Given the description of an element on the screen output the (x, y) to click on. 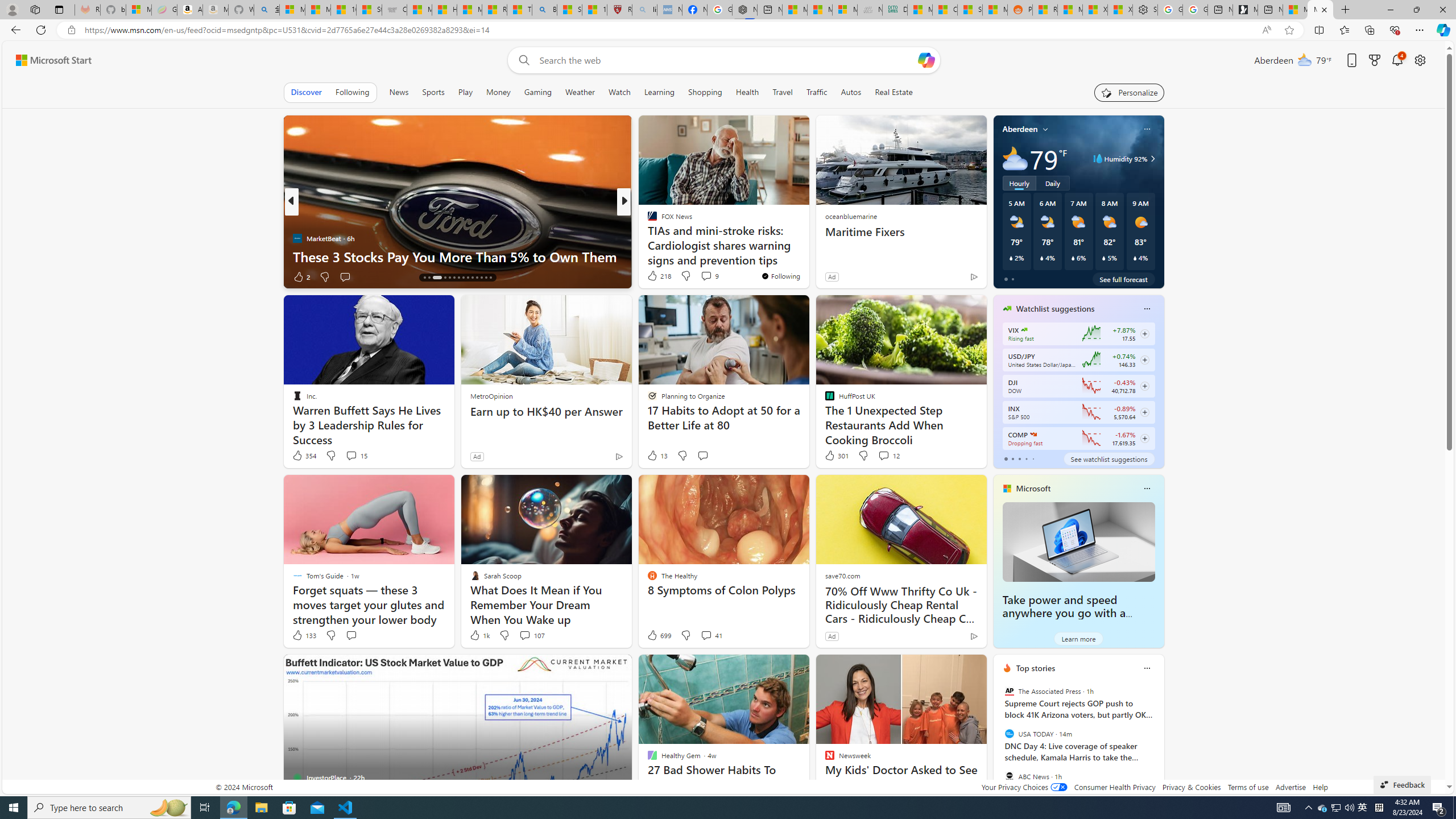
tab-2 (1019, 458)
AutomationID: tab-20 (454, 277)
699 Like (658, 634)
You're following FOX News (780, 275)
Play (465, 92)
Top stories (1035, 668)
Tasting Table (647, 219)
218 Like (658, 275)
tab-3 (1025, 458)
View comments 12 Comment (883, 455)
